Given the description of an element on the screen output the (x, y) to click on. 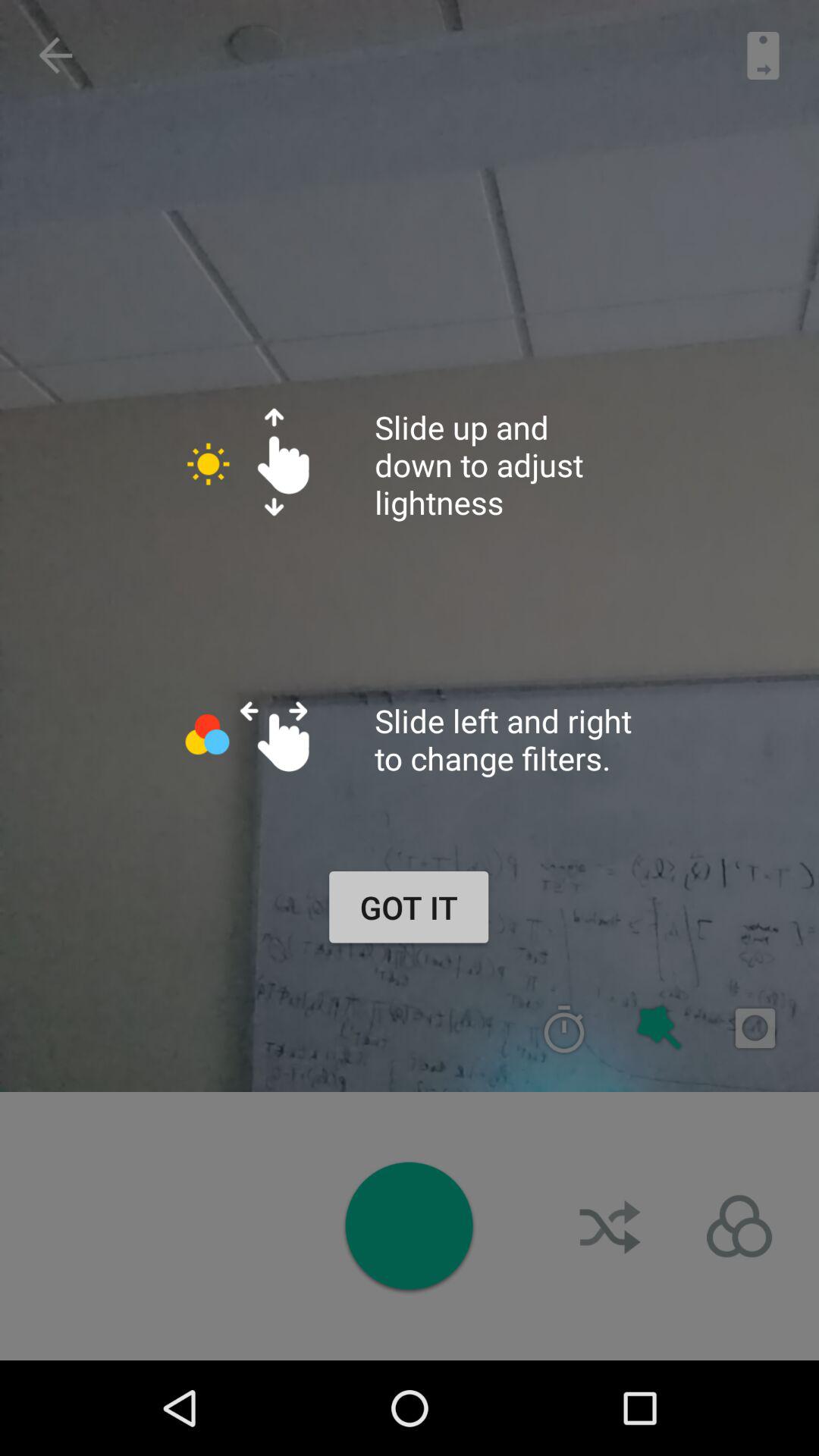
play button (408, 1225)
